Given the description of an element on the screen output the (x, y) to click on. 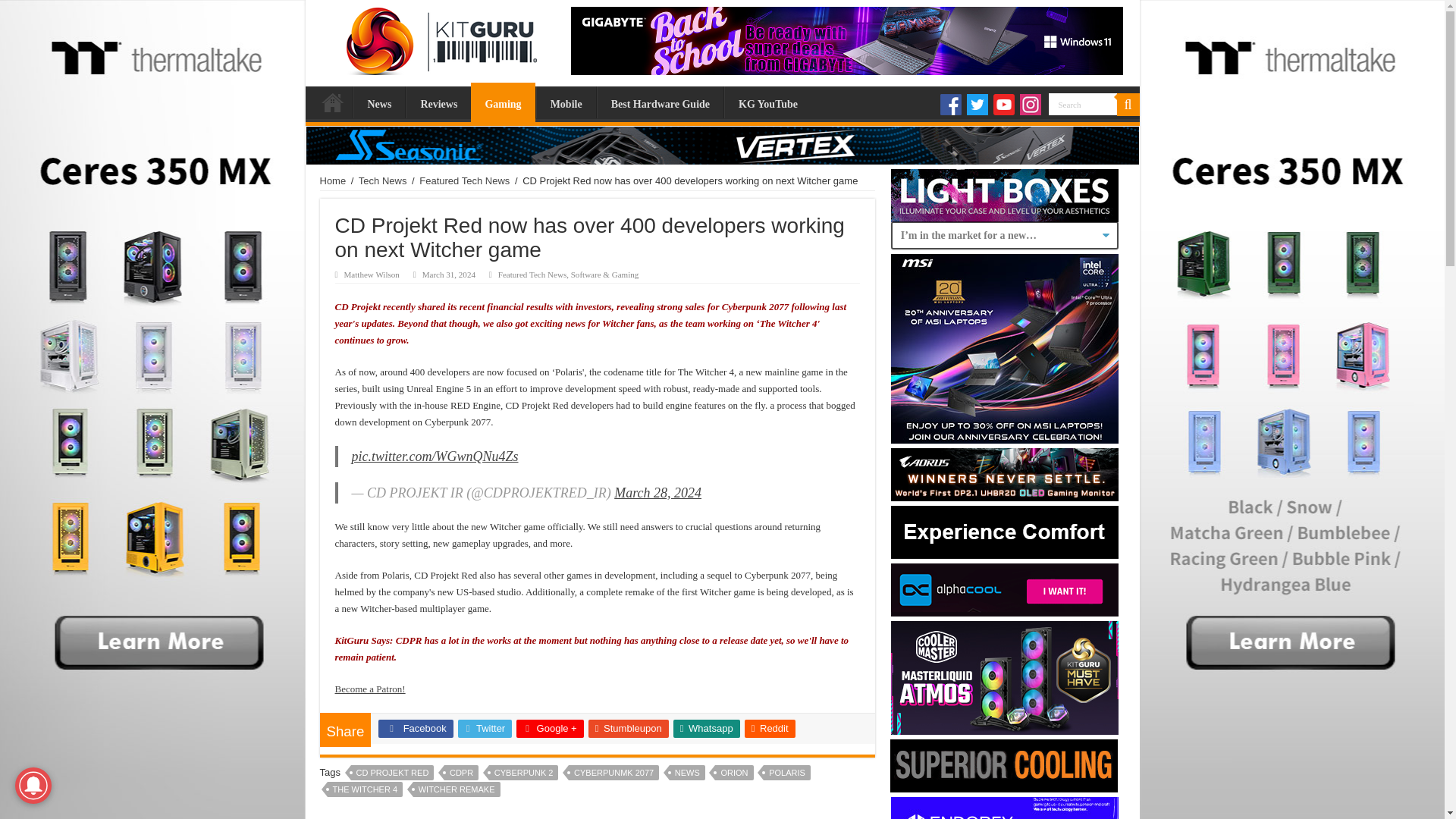
Featured Tech News (464, 180)
Mobile (565, 101)
March 28, 2024 (657, 492)
KG YouTube (766, 101)
Youtube (1003, 104)
KitGuru (437, 37)
Reviews (438, 101)
Search (1082, 104)
Gaming (502, 102)
Home (332, 101)
